Given the description of an element on the screen output the (x, y) to click on. 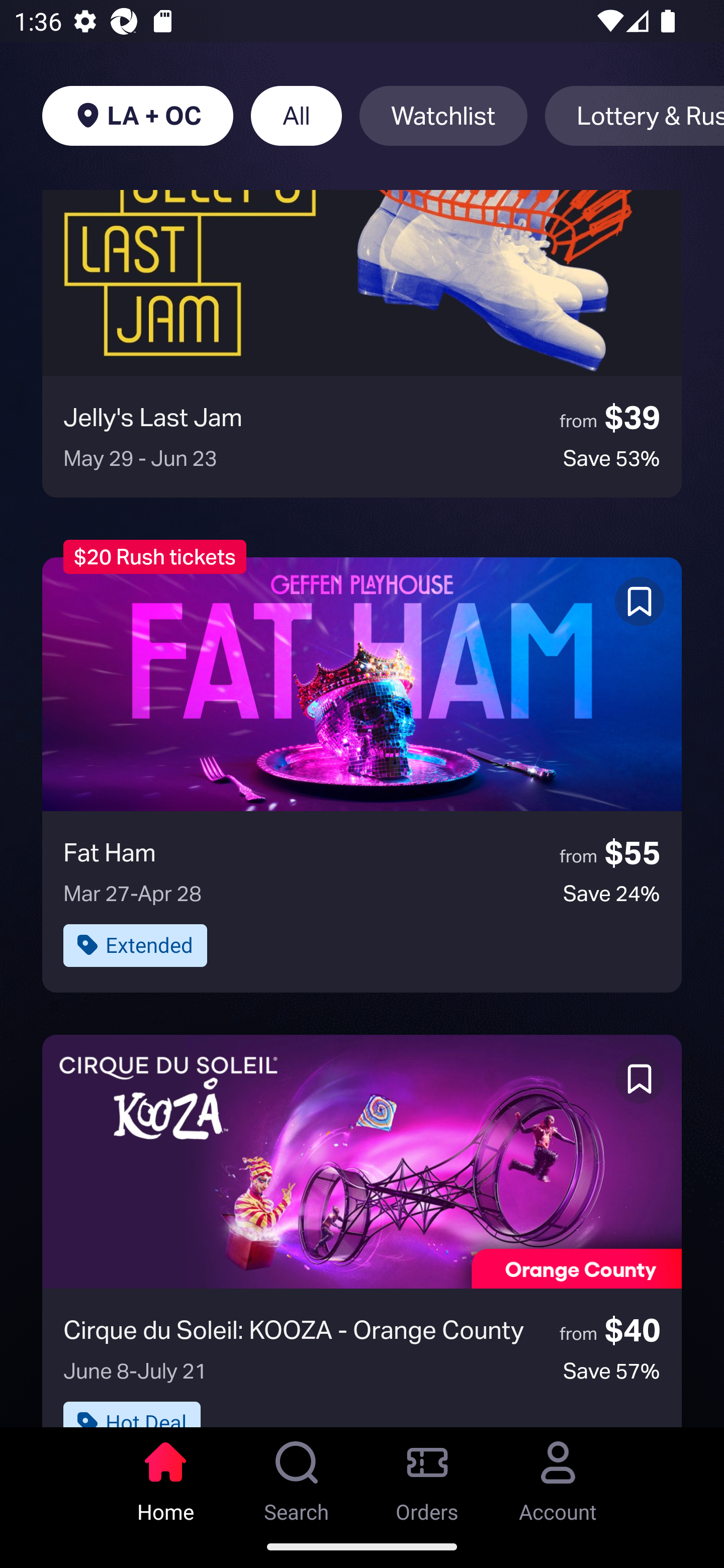
LA + OC (137, 115)
All (296, 115)
Watchlist (443, 115)
Lottery & Rush (634, 115)
Jelly's Last Jam from $39 May 29 - Jun 23 Save 53% (361, 343)
Fat Ham from $55 Mar 27-Apr 28 Save 24% Extended (361, 774)
Search (296, 1475)
Orders (427, 1475)
Account (558, 1475)
